Given the description of an element on the screen output the (x, y) to click on. 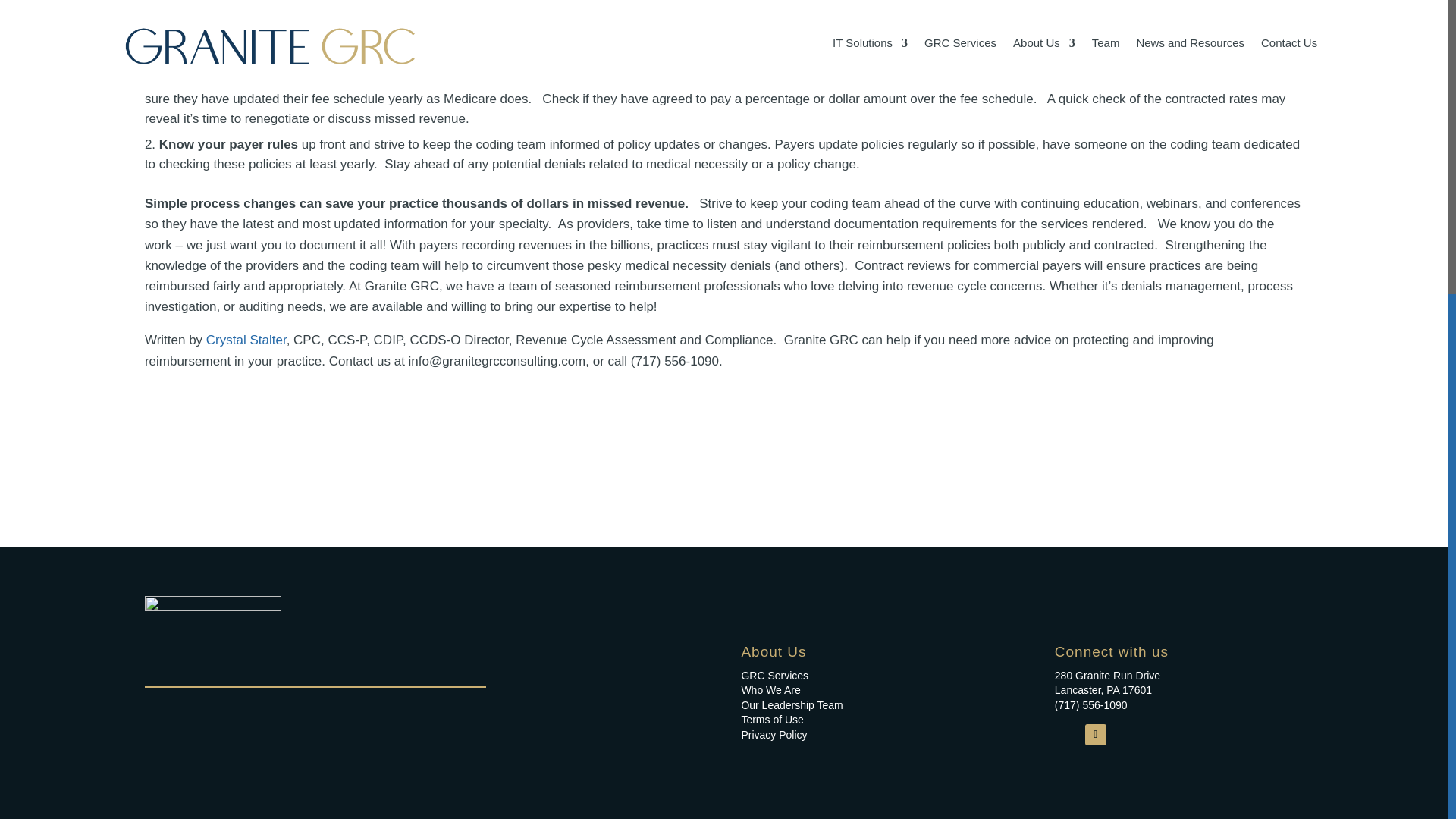
Privacy Policy (773, 734)
Follow on LinkedIn (1095, 734)
Who We Are (770, 689)
Our Leadership Team (792, 705)
GRC Services (774, 675)
Terms of Use (772, 719)
Crystal Stalter (246, 339)
